Given the description of an element on the screen output the (x, y) to click on. 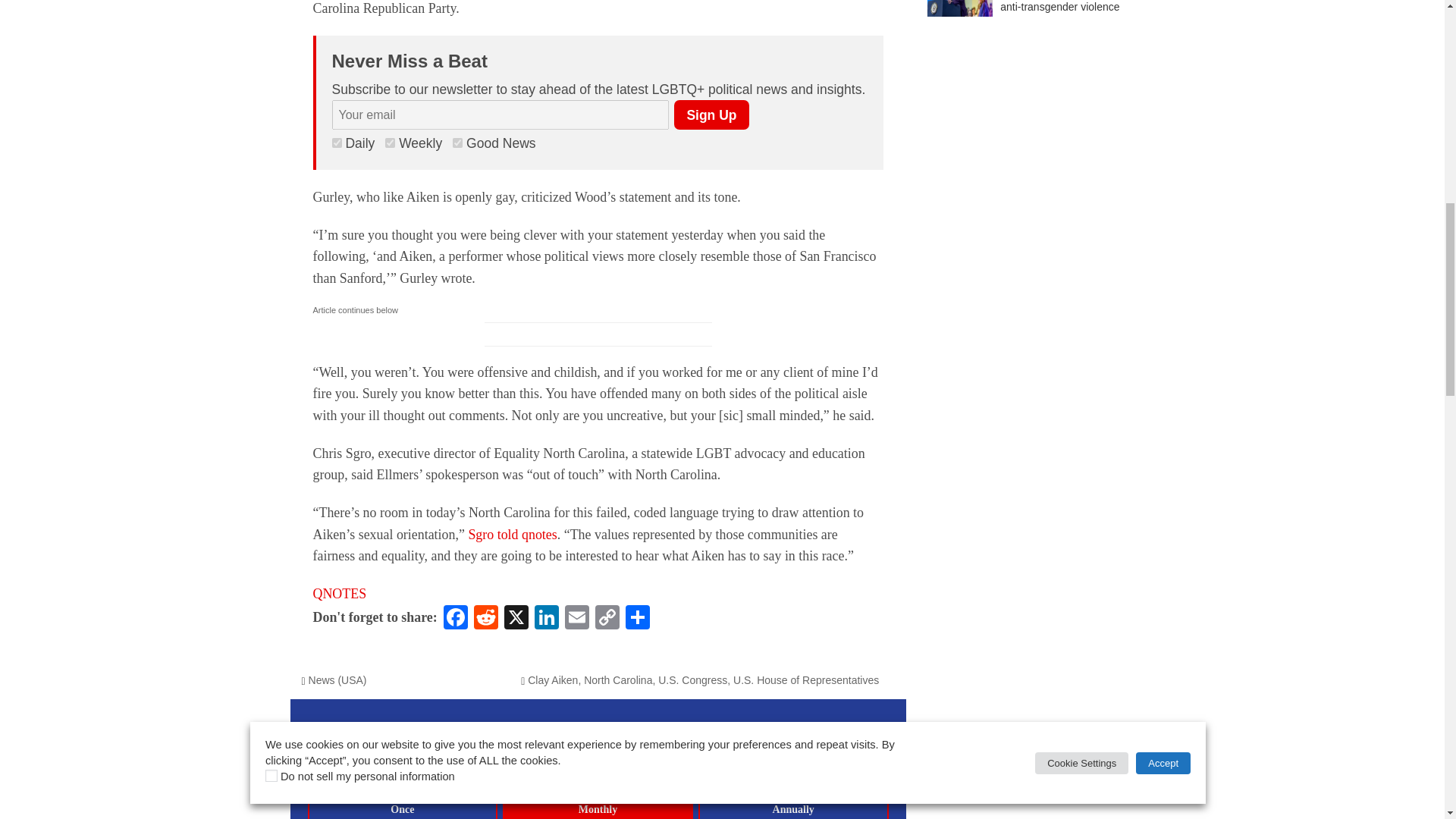
Copy Link (607, 619)
LinkedIn (546, 619)
Reddit (485, 619)
X (515, 619)
1920885 (336, 143)
1920884 (389, 143)
Facebook (455, 619)
Email (577, 619)
LinkedIn (546, 619)
Facebook (455, 619)
